Given the description of an element on the screen output the (x, y) to click on. 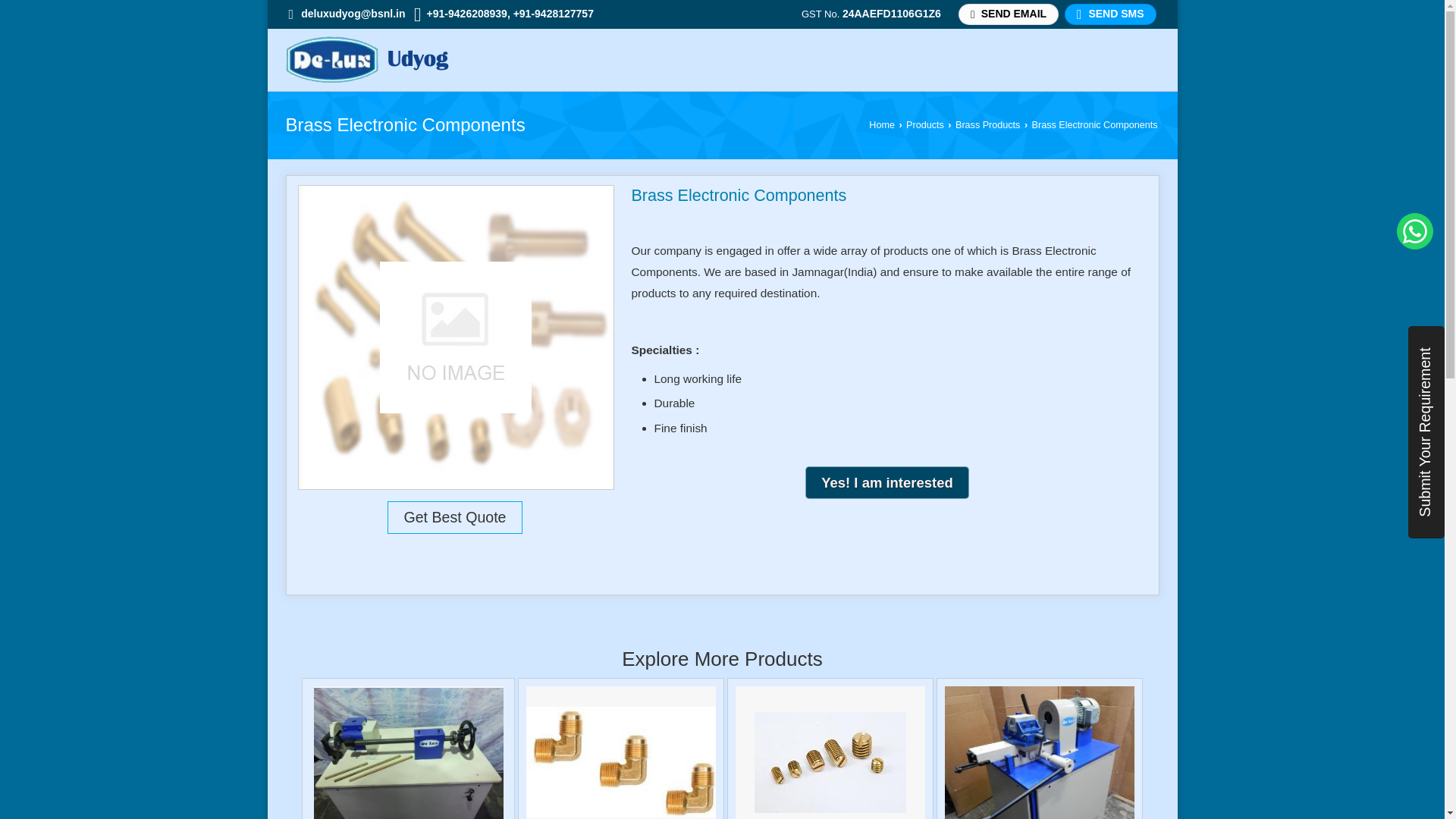
Get Best Quote (454, 517)
De-lux Udyog (366, 59)
Home (882, 124)
